Given the description of an element on the screen output the (x, y) to click on. 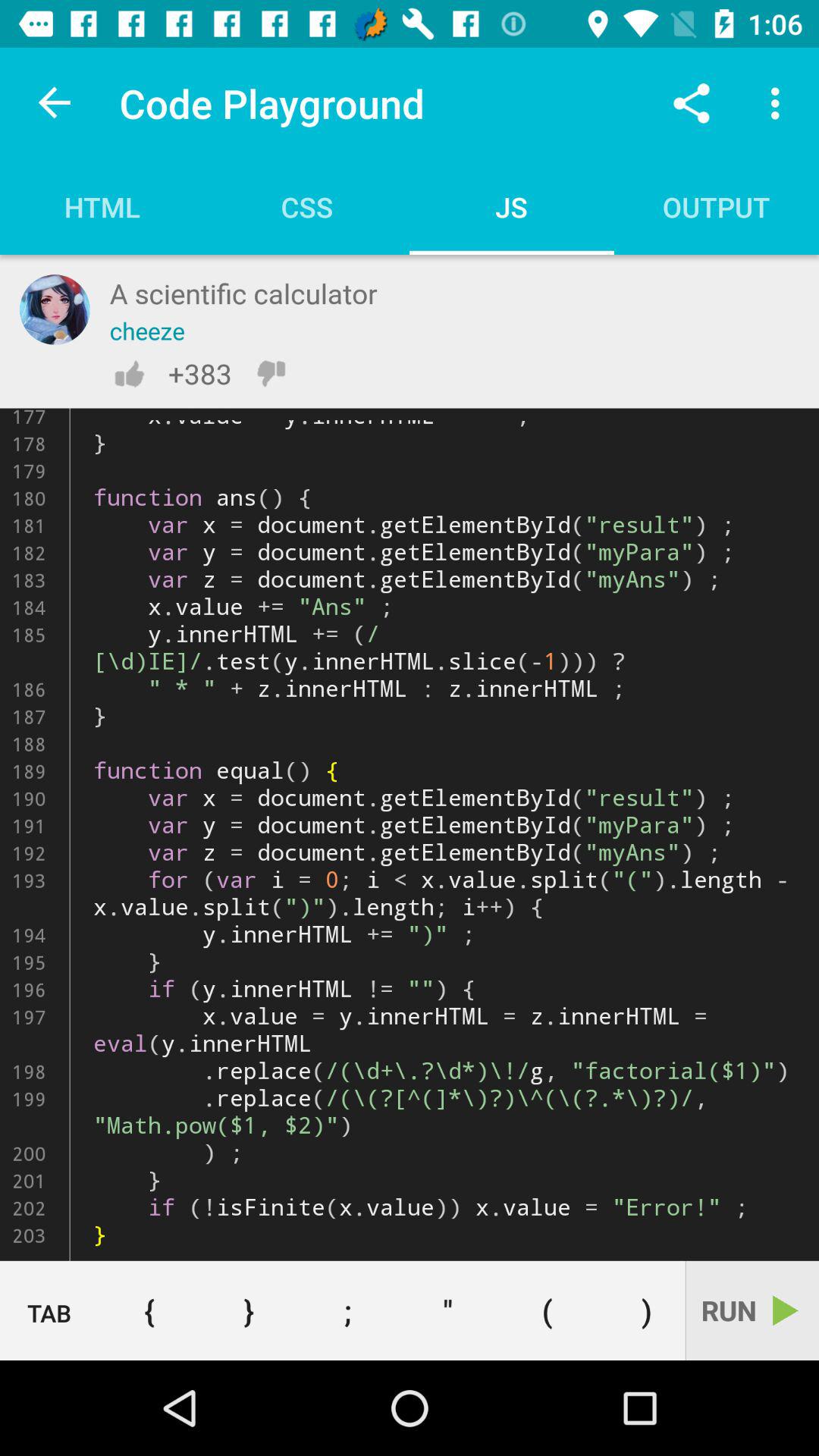
turn off " icon (447, 1310)
